Given the description of an element on the screen output the (x, y) to click on. 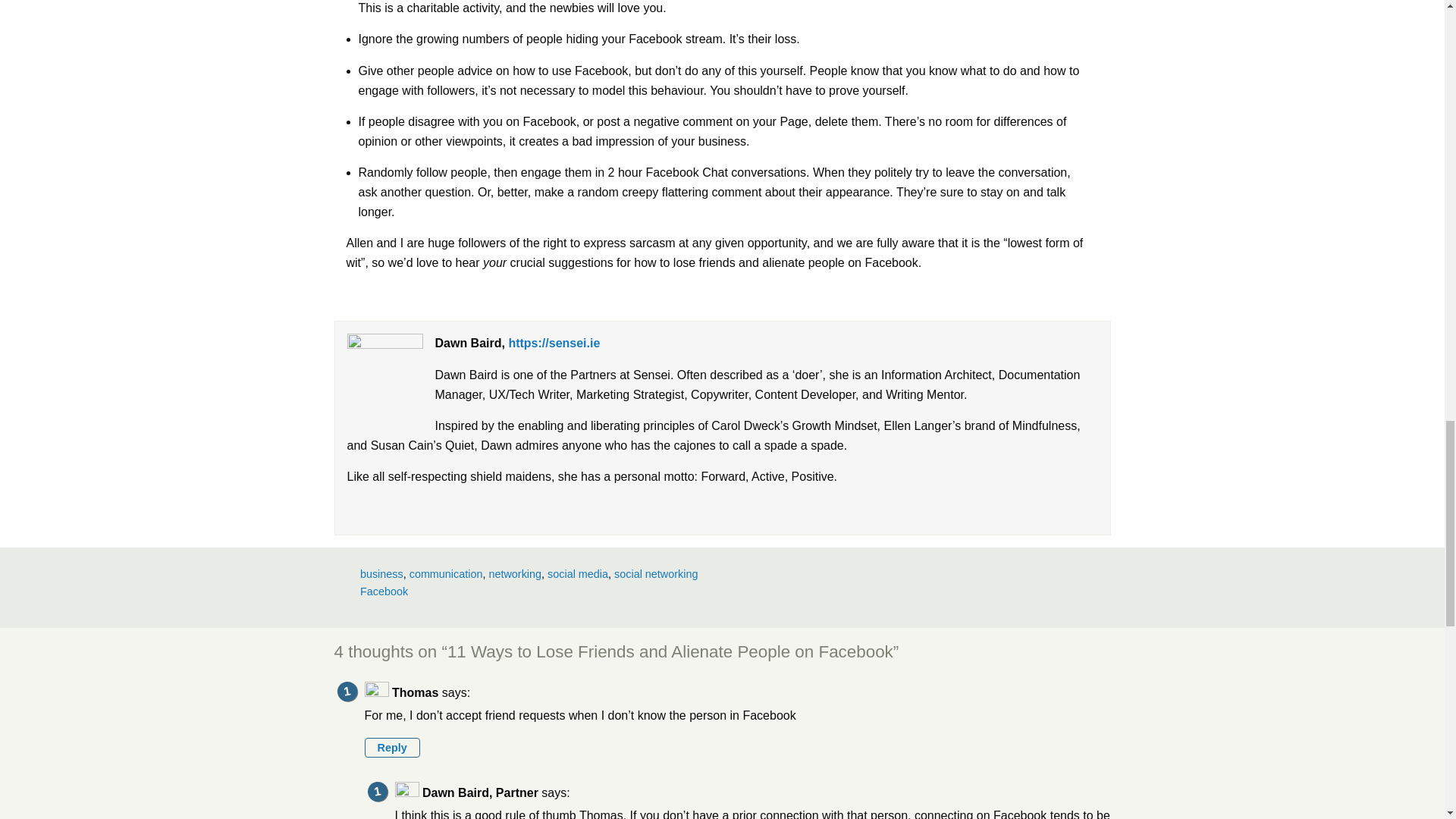
communication (446, 573)
business (381, 573)
networking (514, 573)
